Given the description of an element on the screen output the (x, y) to click on. 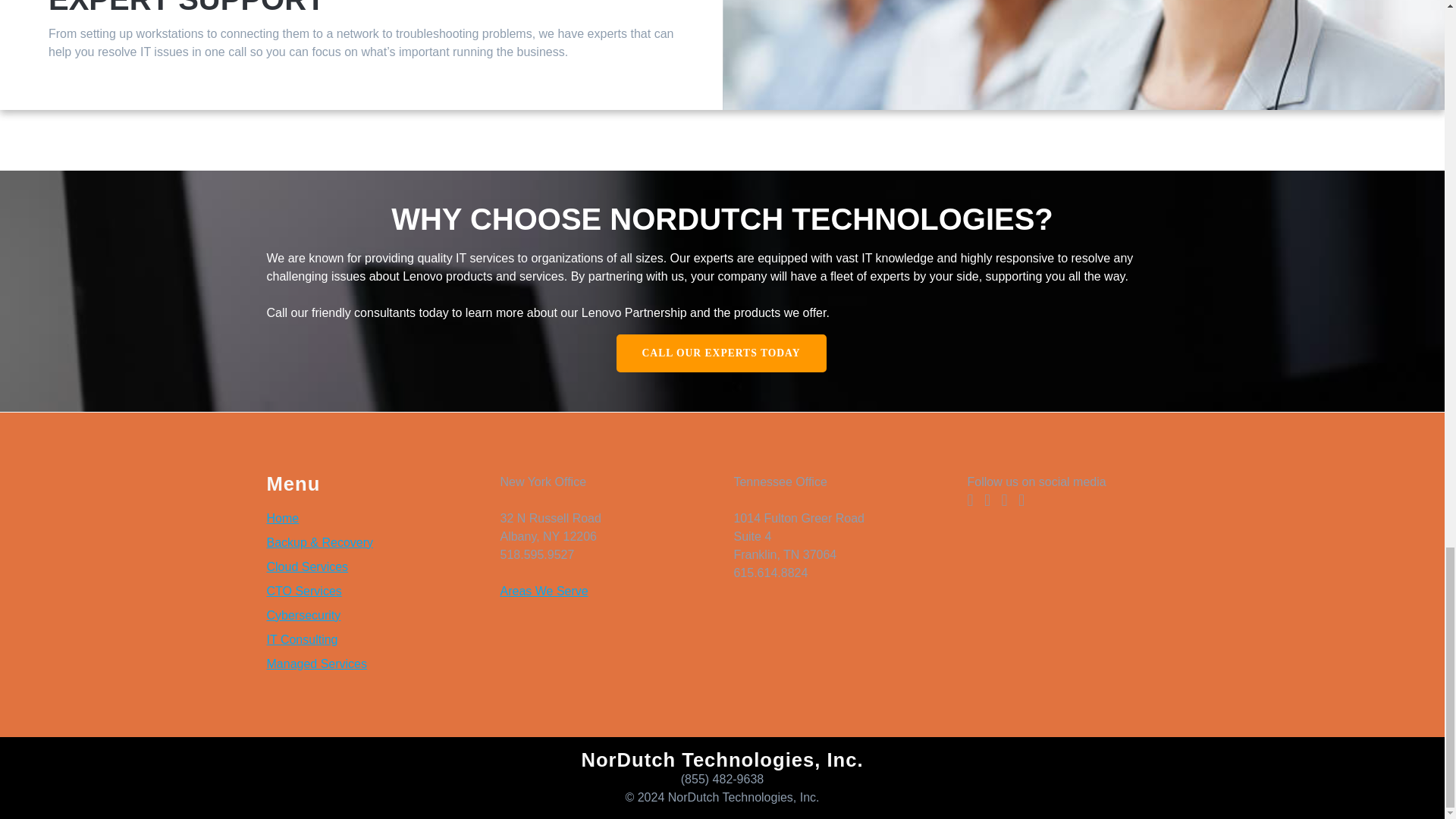
Areas We Serve (543, 590)
CALL OUR EXPERTS TODAY (720, 353)
Cloud Services (307, 566)
IT Consulting (301, 639)
Home (282, 517)
CTO Services (304, 590)
Cybersecurity (303, 615)
Managed Services (317, 663)
